Given the description of an element on the screen output the (x, y) to click on. 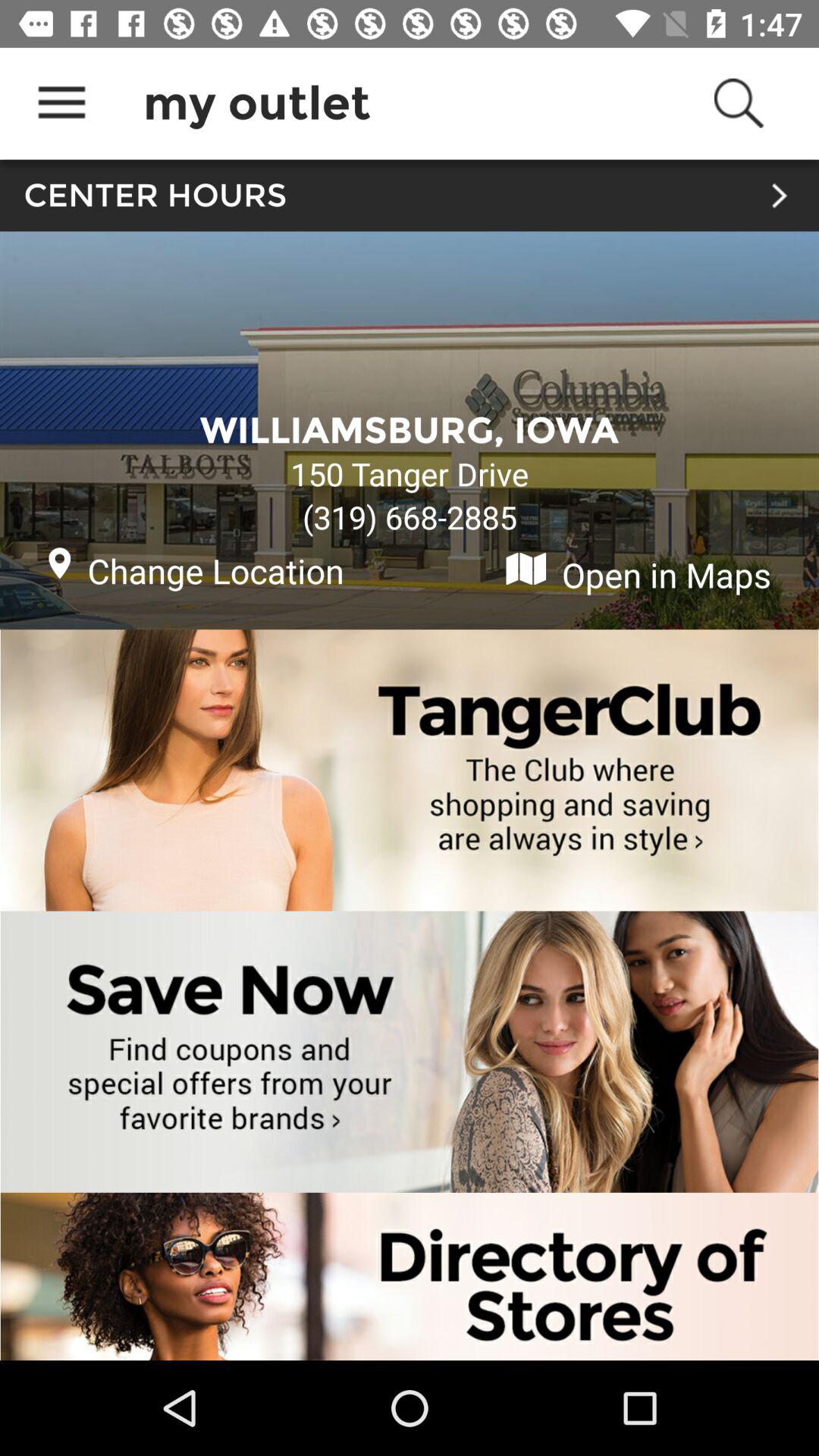
launch the item at the top left corner (61, 103)
